Given the description of an element on the screen output the (x, y) to click on. 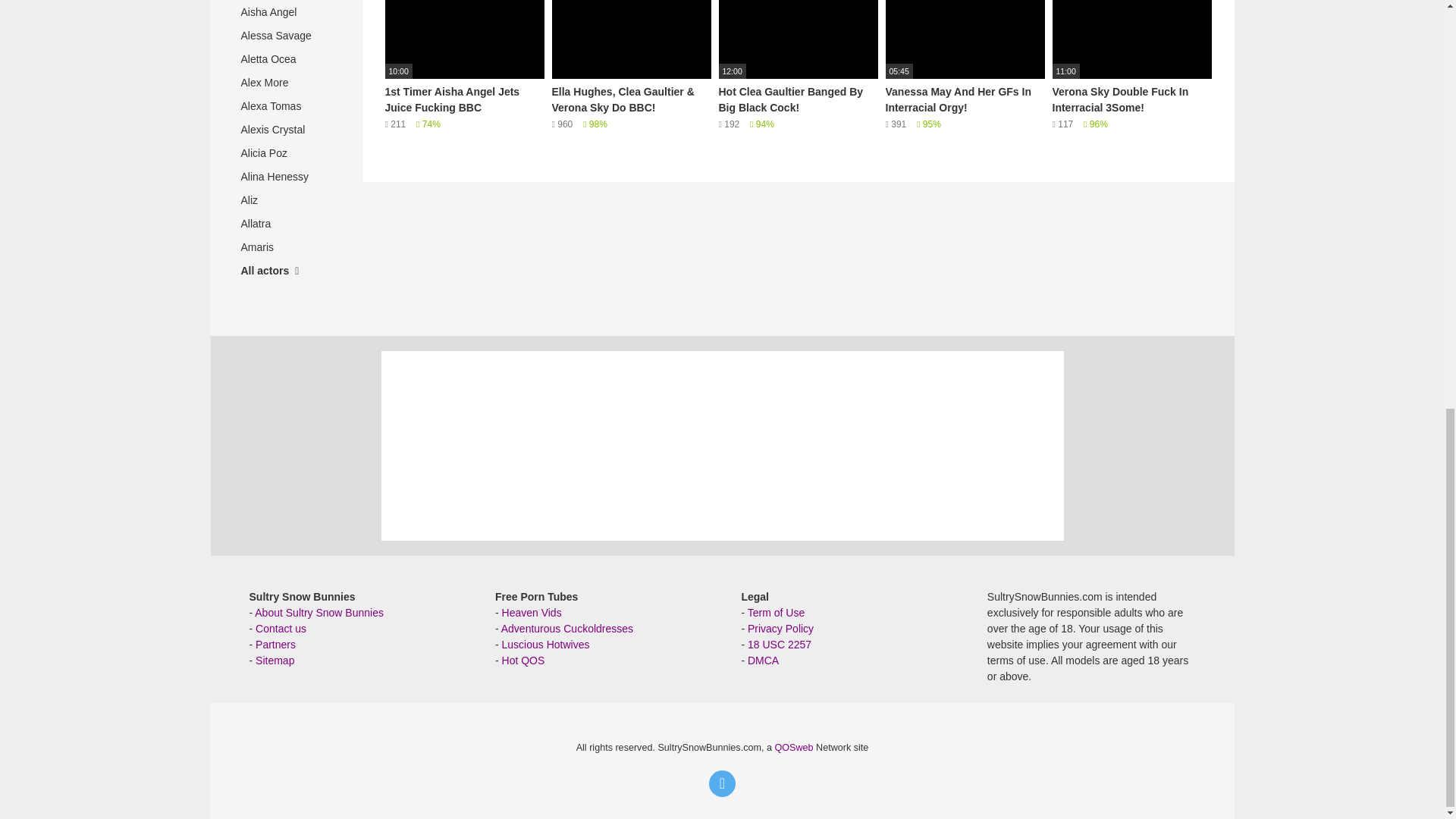
Aisha Angel (285, 12)
Alex More (285, 83)
All actors (285, 270)
Alessa Savage (285, 35)
Aletta Ocea (285, 59)
